Given the description of an element on the screen output the (x, y) to click on. 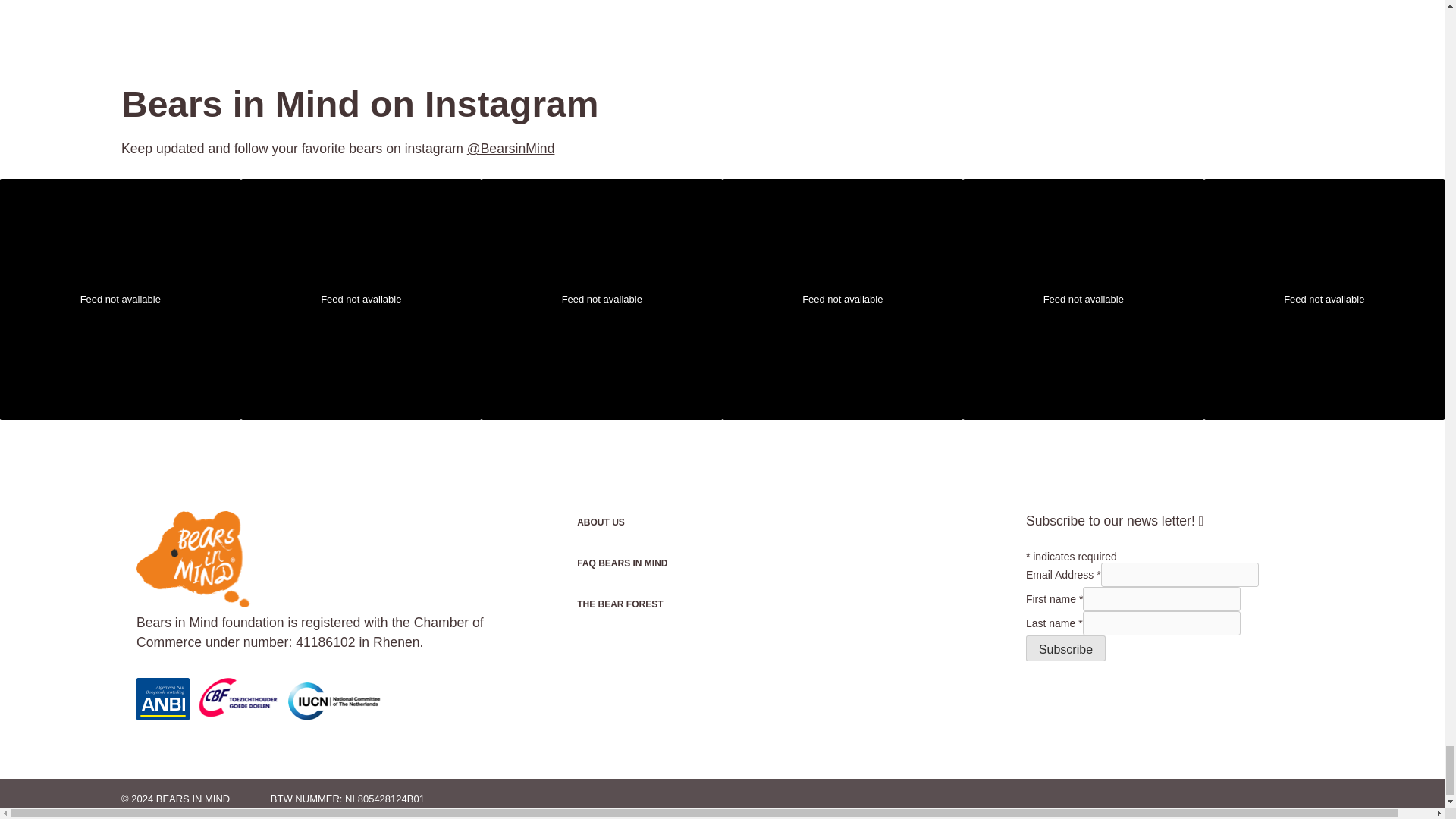
ABOUT US (663, 522)
Subscribe (1065, 647)
FAQ BEARS IN MIND (663, 563)
Subscribe (1065, 647)
THE BEAR FOREST (663, 603)
